Given the description of an element on the screen output the (x, y) to click on. 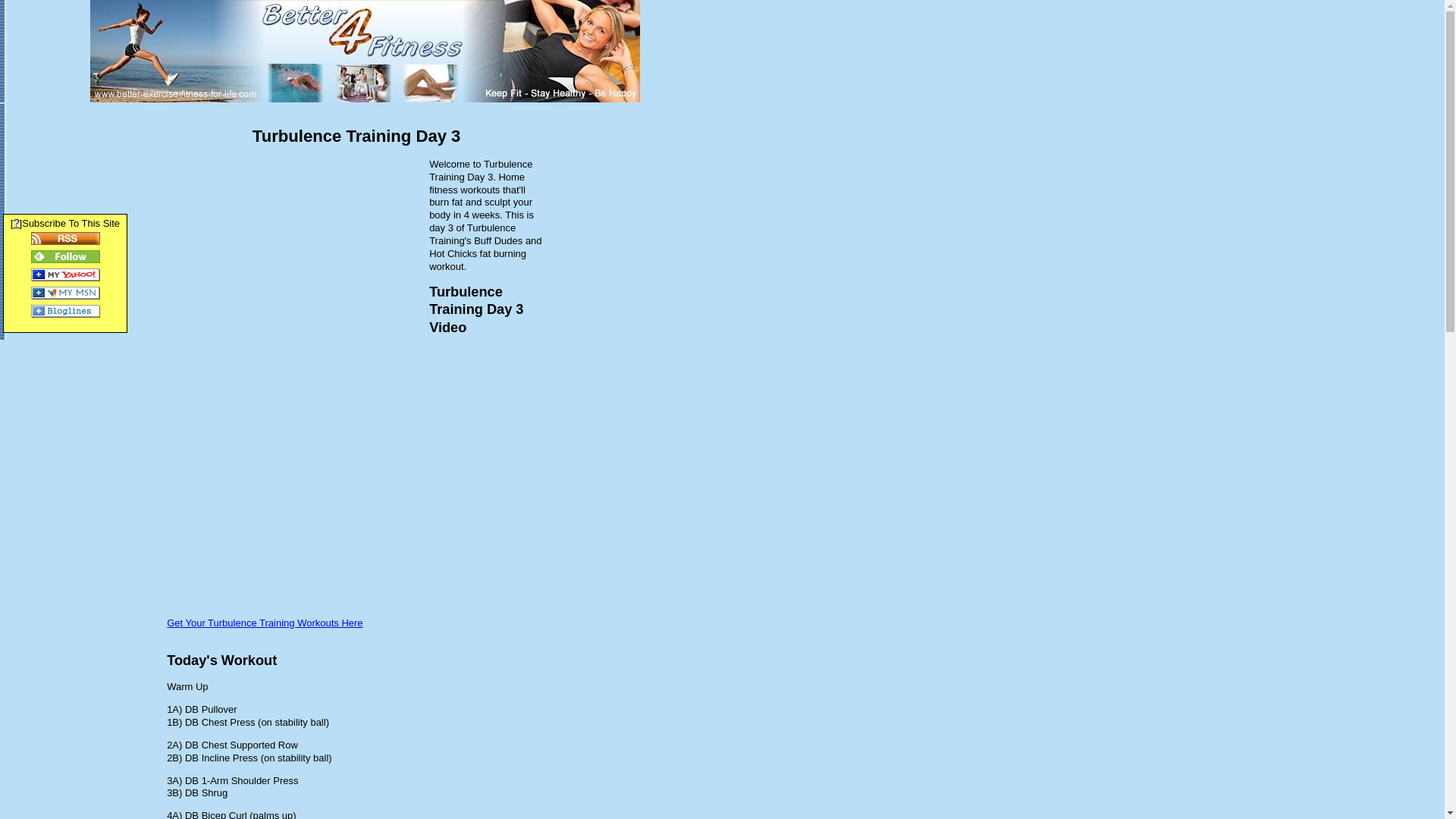
Get Your Turbulence Training Workouts Here (264, 622)
Advertisement (294, 264)
Advertisement (48, 160)
